Given the description of an element on the screen output the (x, y) to click on. 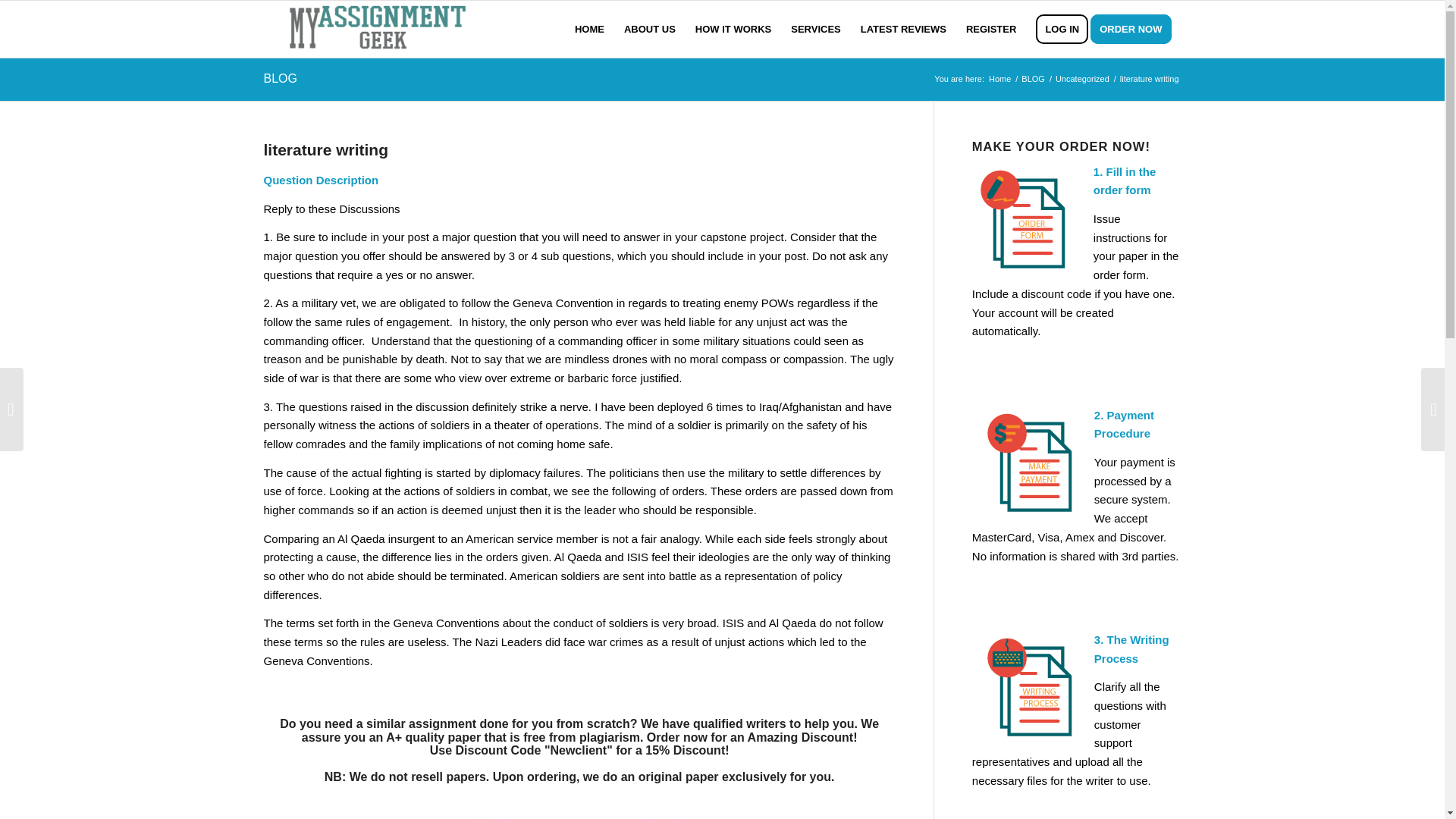
Permanent Link: BLOG (280, 78)
myassignmentgeek (1000, 79)
ORDER NOW (1135, 28)
Uncategorized (1082, 79)
REGISTER (991, 28)
BLOG (1032, 79)
HOW IT WORKS (732, 28)
BLOG (1032, 79)
LOG IN (1061, 28)
Permanent Link: literature writing (325, 149)
ABOUT US (649, 28)
SERVICES (815, 28)
LATEST REVIEWS (903, 28)
Home (1000, 79)
BLOG (280, 78)
